Given the description of an element on the screen output the (x, y) to click on. 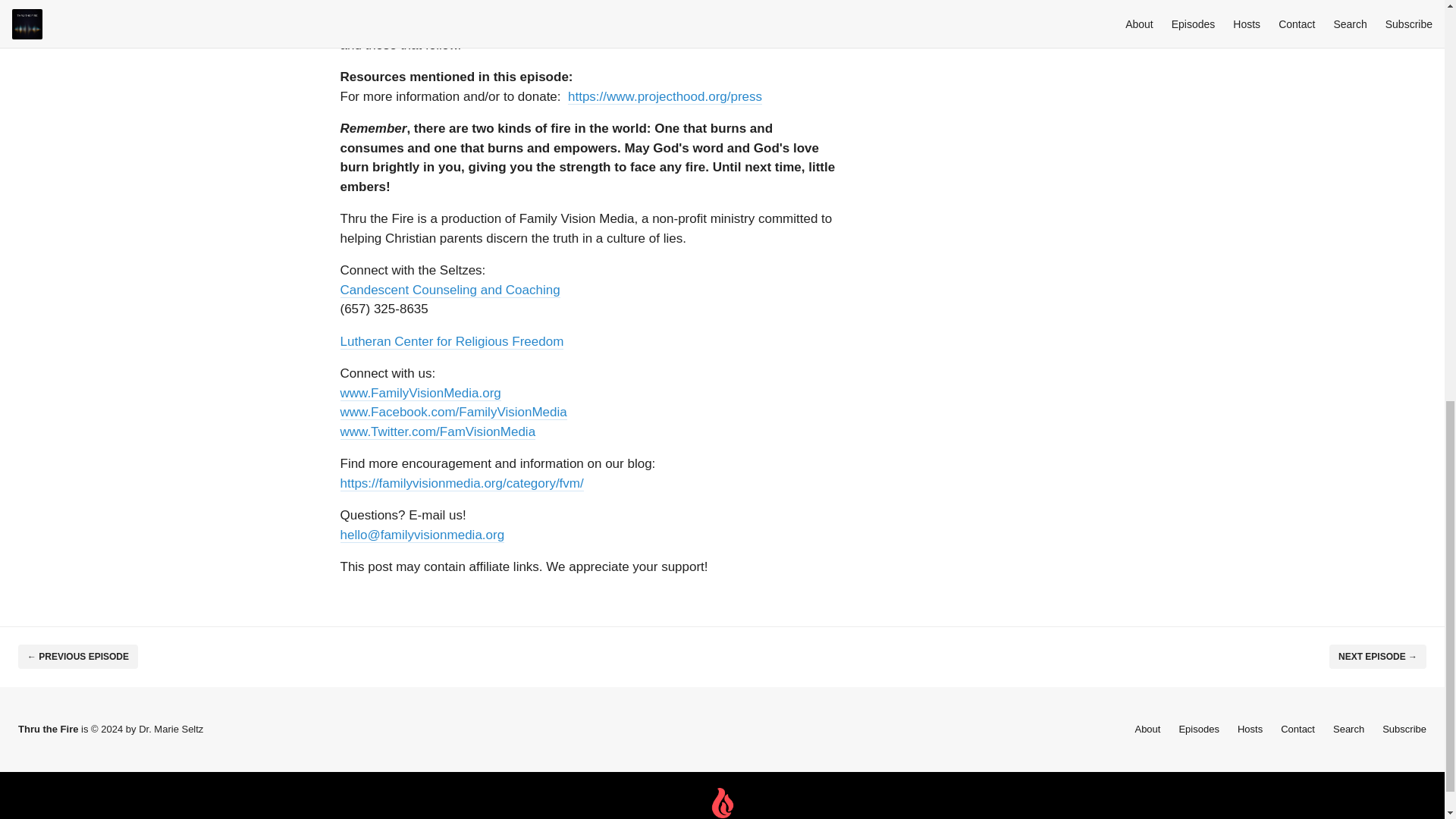
Lutheran Center for Religious Freedom (451, 340)
Powered by Fireside (722, 803)
Candescent Counseling and Coaching (449, 288)
www.FamilyVisionMedia.org (419, 391)
